Given the description of an element on the screen output the (x, y) to click on. 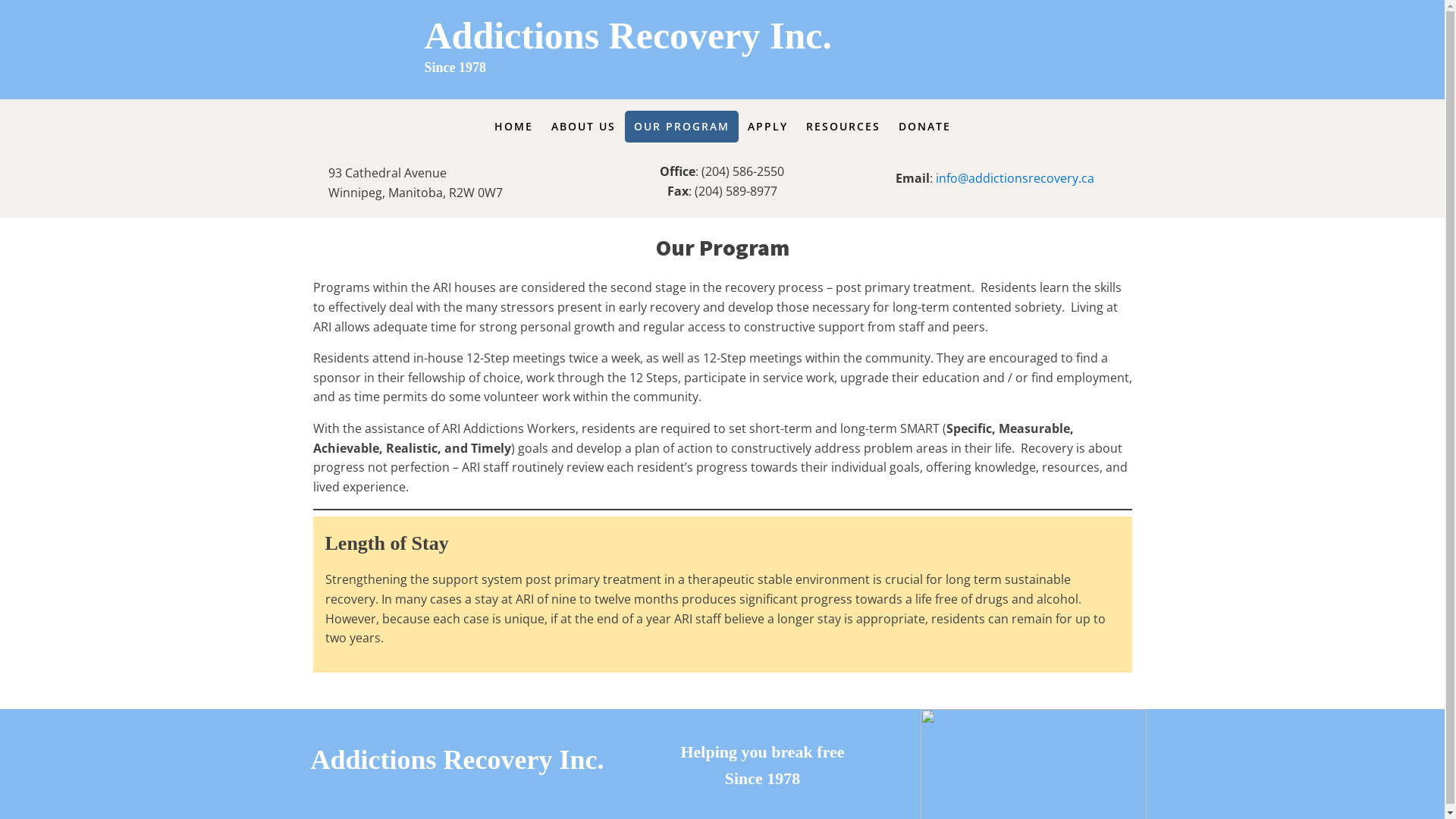
OUR PROGRAM Element type: text (681, 126)
info@addictionsrecovery.ca Element type: text (1014, 177)
DONATE Element type: text (923, 126)
RESOURCES Element type: text (842, 126)
APPLY Element type: text (767, 126)
ABOUT US Element type: text (582, 126)
HOME Element type: text (513, 126)
